Given the description of an element on the screen output the (x, y) to click on. 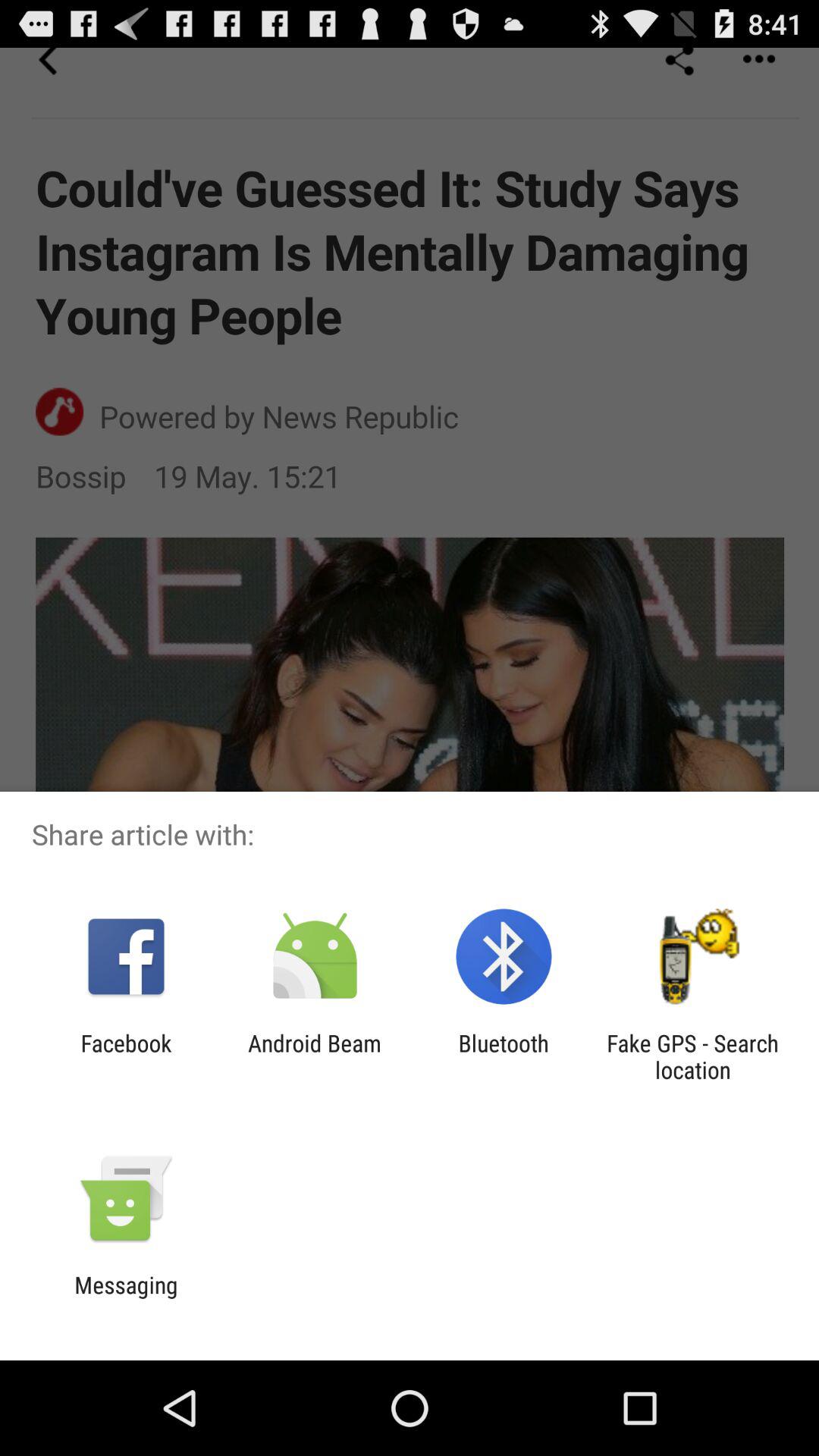
select bluetooth app (503, 1056)
